Given the description of an element on the screen output the (x, y) to click on. 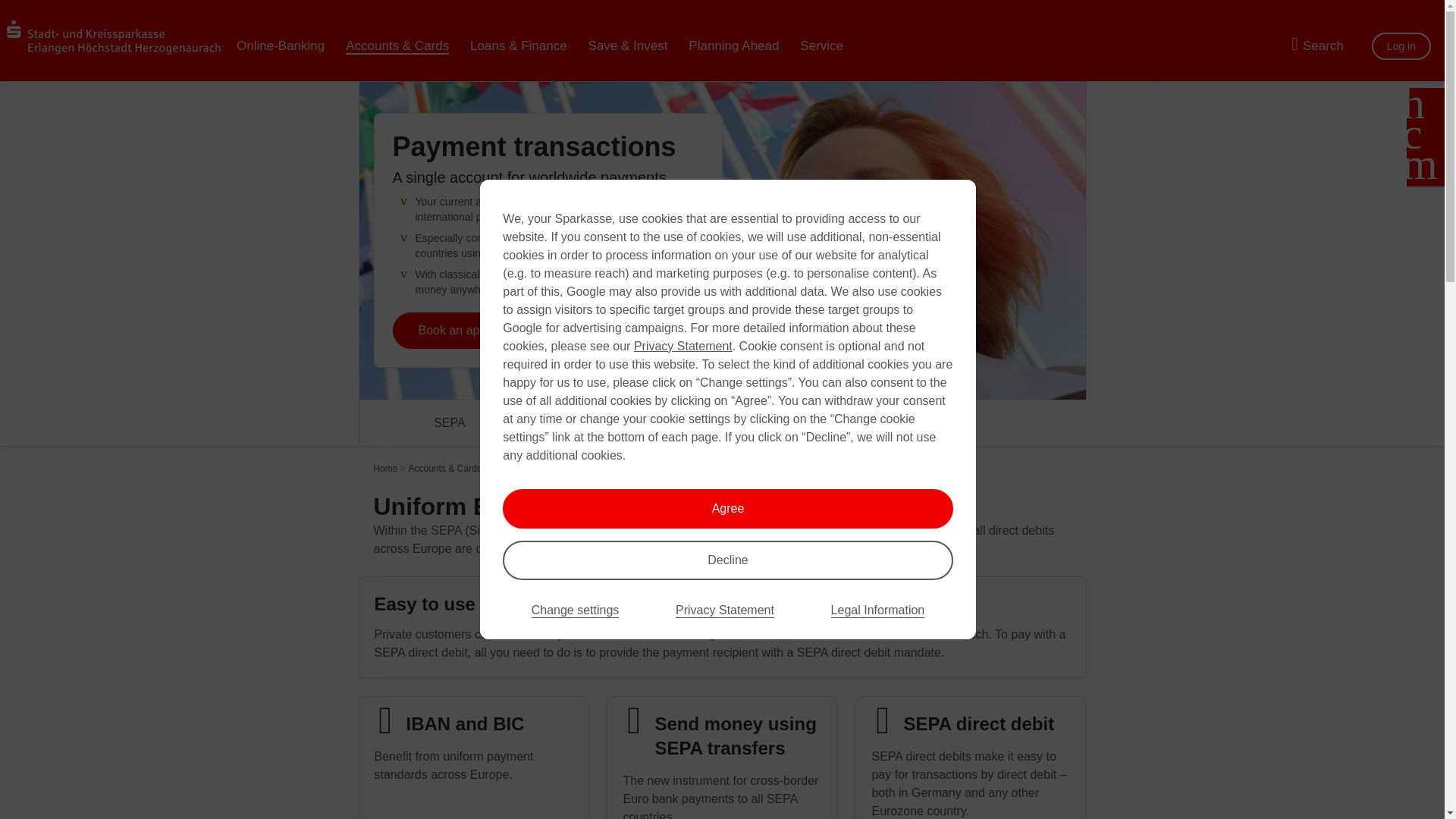
Search (1311, 46)
Service (820, 45)
Log in (1401, 45)
Book an appointment (476, 330)
Planning Ahead (733, 45)
Book an appointment (476, 330)
Search (1311, 46)
Home (385, 468)
Log in (1401, 45)
Online-Banking (280, 45)
Book an appointment (548, 214)
